Given the description of an element on the screen output the (x, y) to click on. 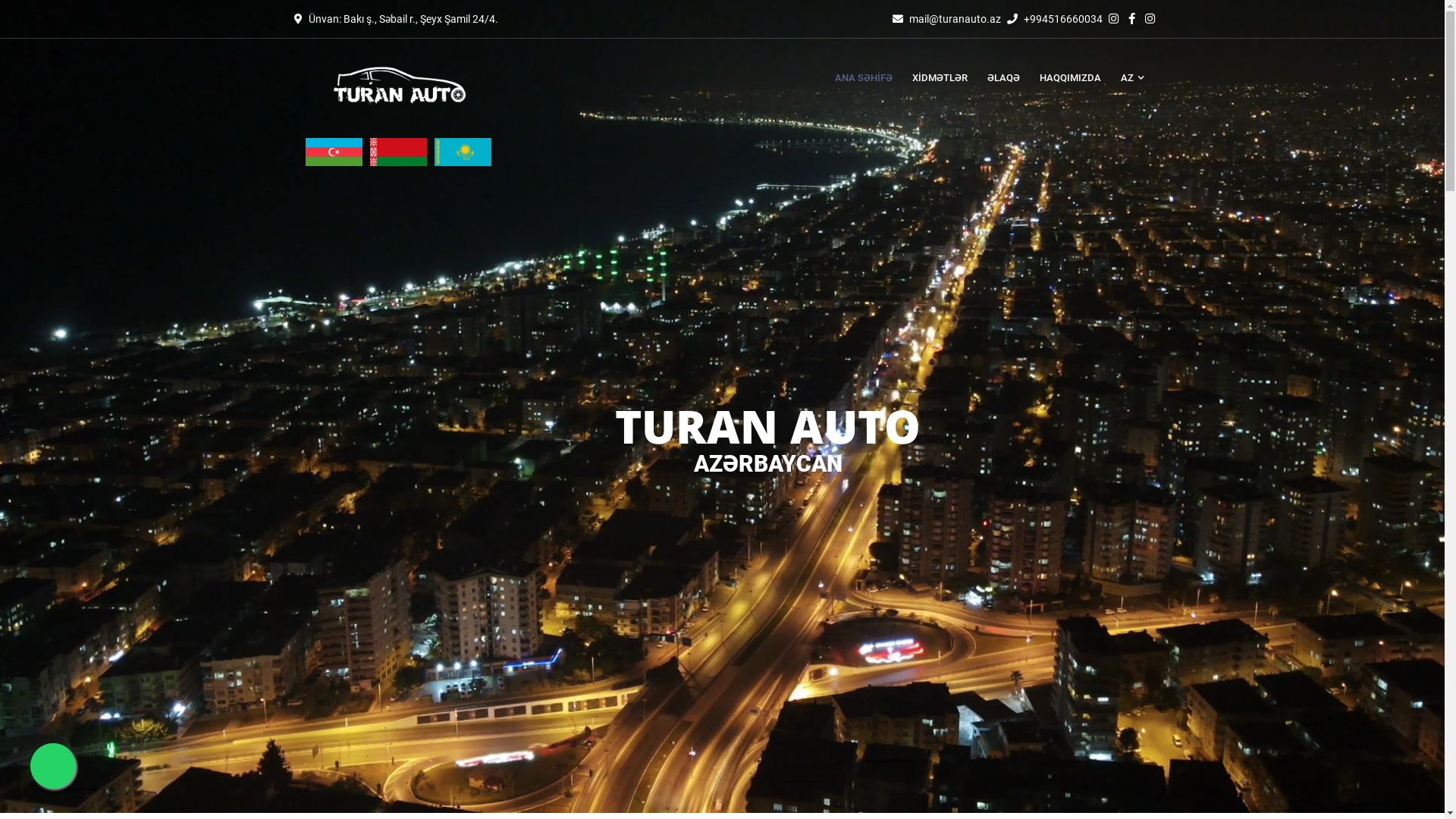
https://www.facebook.com/turanauto Element type: hover (1133, 18)
AZ Element type: text (1126, 77)
https://www.instagram.com/turanauto.az/ Element type: hover (1115, 18)
mail@turanauto.az Element type: text (954, 18)
HAQQIMIZDA Element type: text (1069, 77)
https://www.instagram.com/turanautokz/ Element type: hover (1149, 18)
+994516660034 Element type: text (1062, 18)
